Given the description of an element on the screen output the (x, y) to click on. 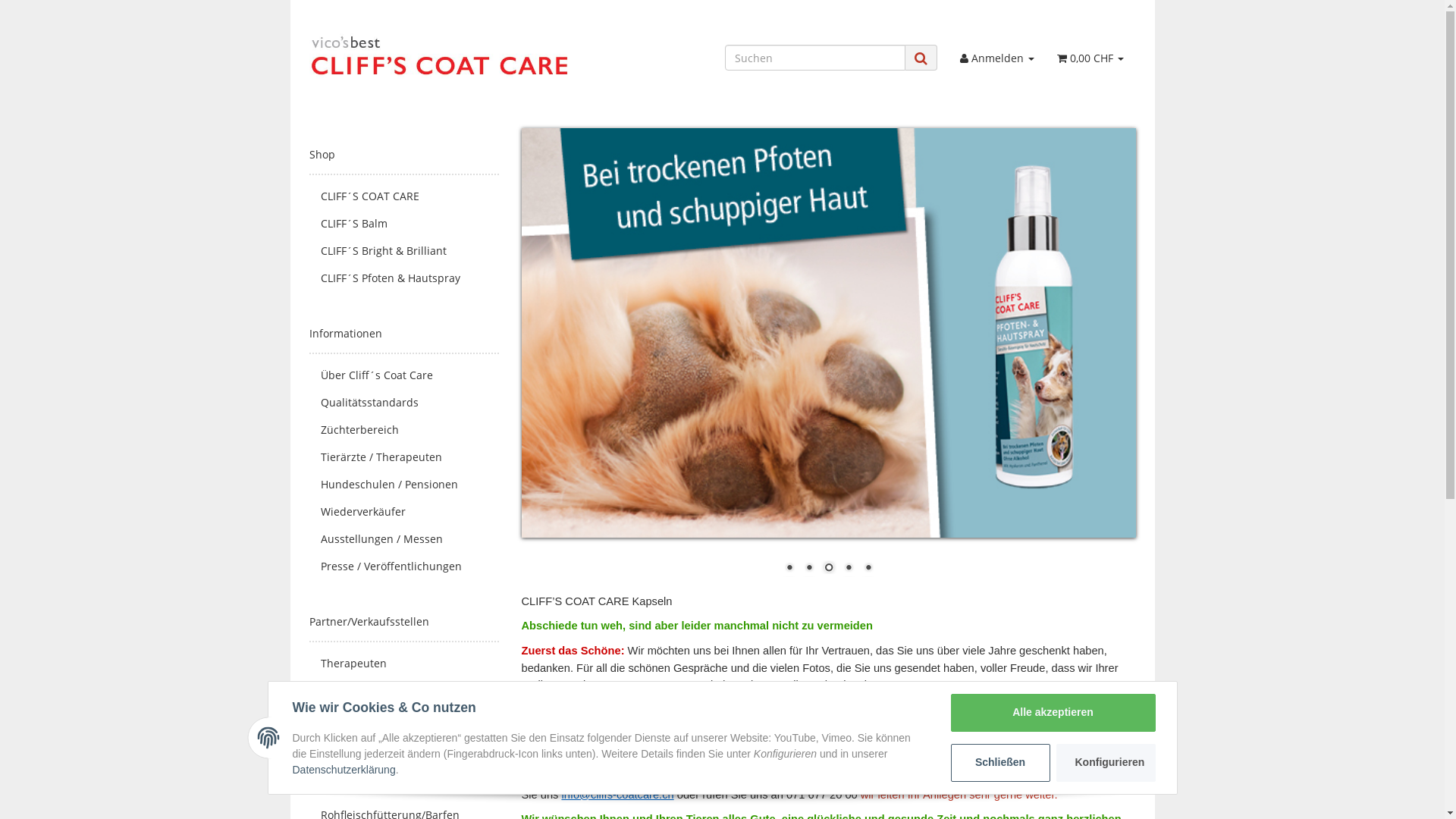
Tierbedarf & Shops Element type: text (403, 690)
Therapeuten Element type: text (403, 663)
2 Element type: text (808, 568)
3 Element type: text (828, 568)
Anmelden Element type: text (996, 58)
Konfigurieren Element type: text (1104, 762)
info@cliffs-coatcare.ch Element type: text (617, 793)
Hundesalons Element type: text (403, 717)
Hundeschulen / Pensionen Element type: text (403, 484)
5 Element type: text (867, 568)
Alle akzeptieren Element type: text (1052, 712)
Ausstellungen / Messen Element type: text (403, 538)
0,00 CHF Element type: text (1090, 58)
1 Element type: text (789, 568)
4 Element type: text (848, 568)
wir leiten Ihr Anliegen sehr gerne weiter. Element type: text (958, 794)
